Given the description of an element on the screen output the (x, y) to click on. 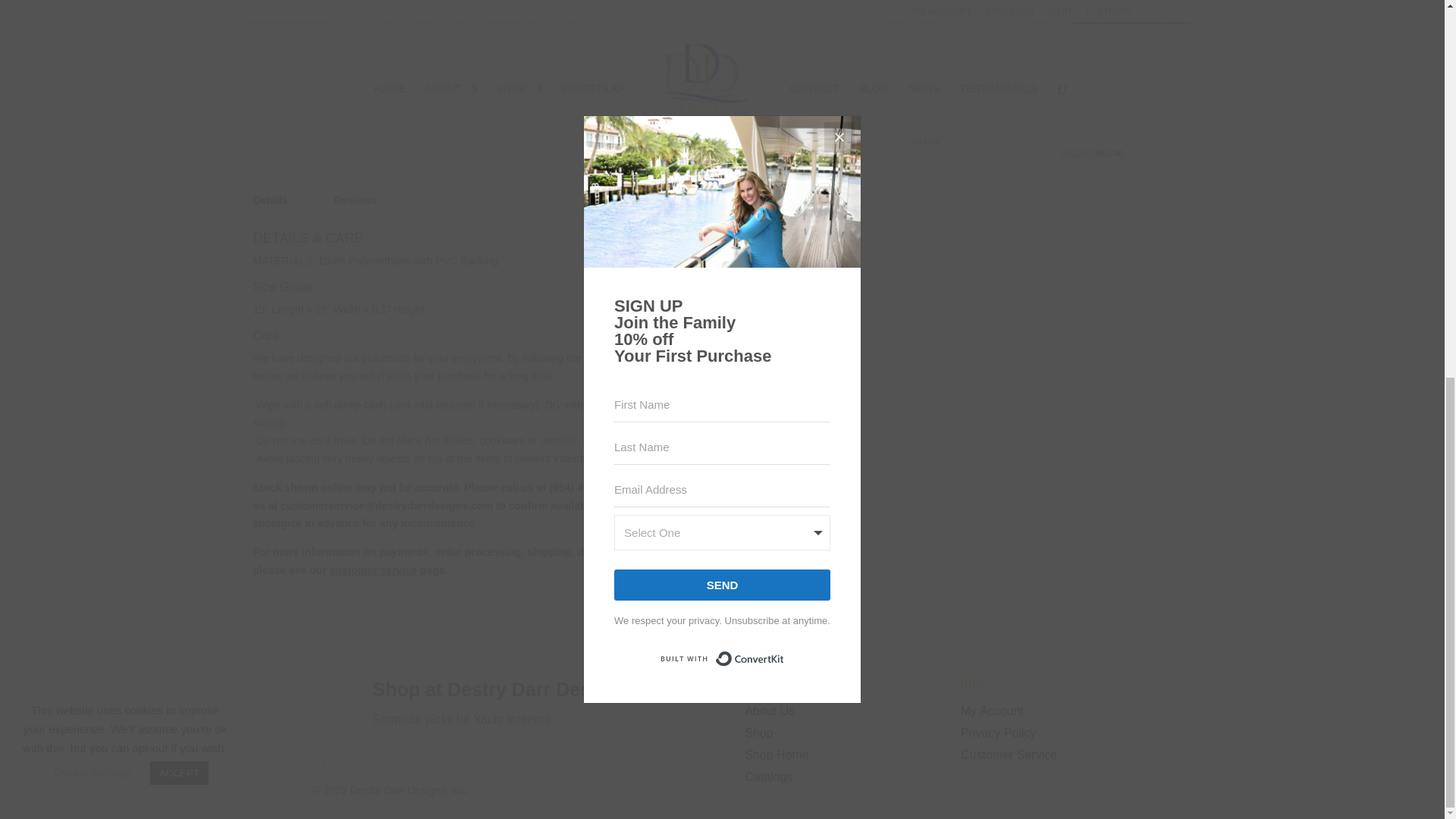
Follow on Facebook (324, 762)
Follow on Instagram (384, 762)
Follow on X (354, 762)
